Given the description of an element on the screen output the (x, y) to click on. 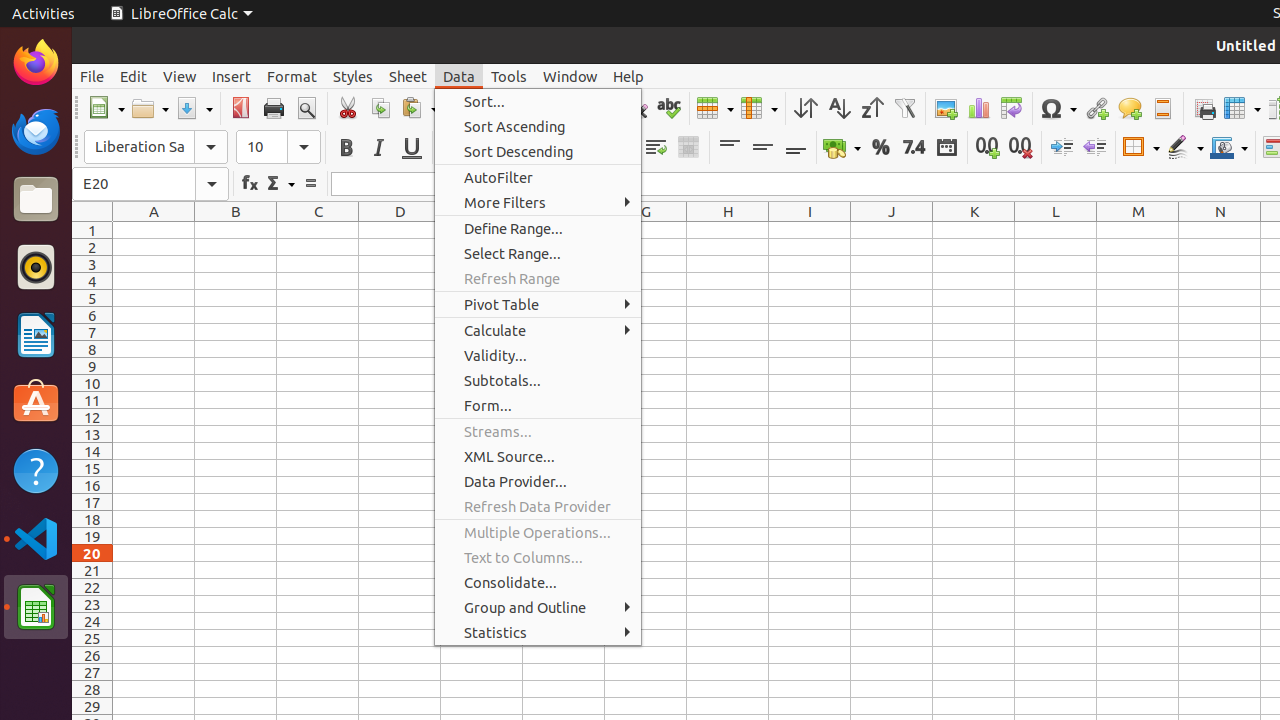
LibreOffice Writer Element type: push-button (36, 334)
Tools Element type: menu (509, 76)
Bold Element type: toggle-button (345, 147)
View Element type: menu (179, 76)
I1 Element type: table-cell (810, 230)
